Given the description of an element on the screen output the (x, y) to click on. 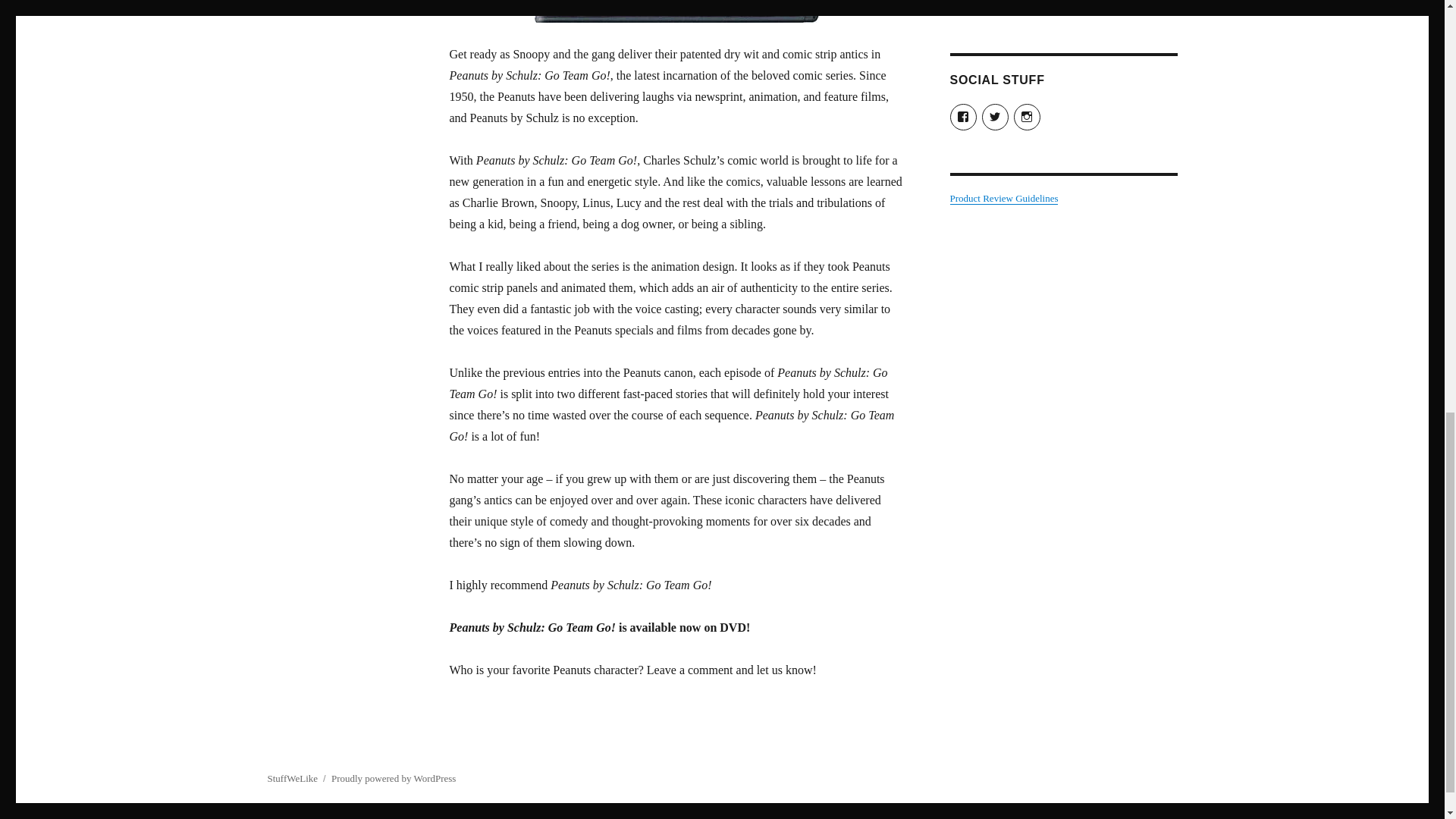
StuffWeLike (291, 778)
Proudly powered by WordPress (393, 778)
Product Review Guidelines (1003, 197)
